Given the description of an element on the screen output the (x, y) to click on. 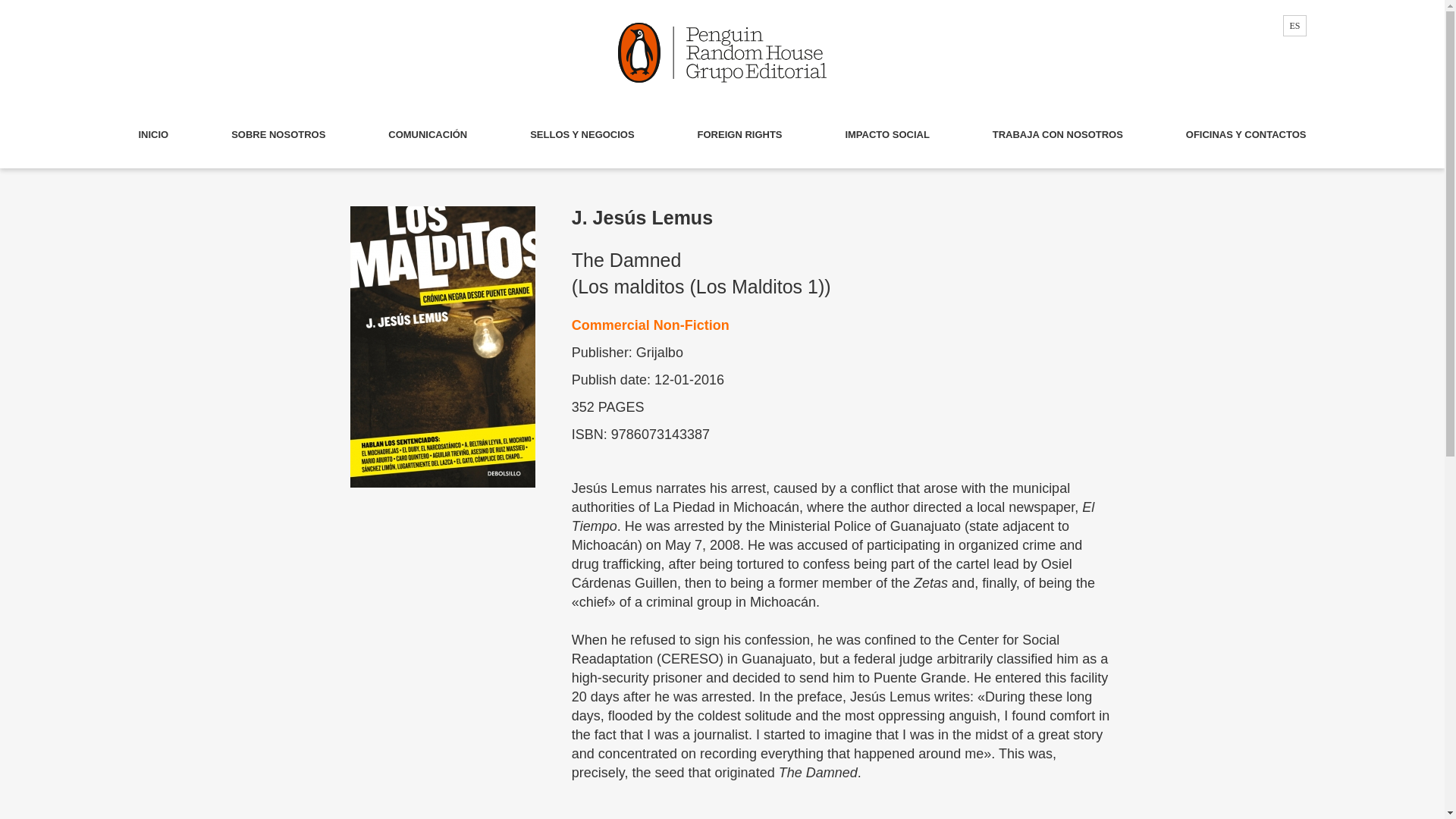
SOBRE NOSOTROS (277, 134)
TRABAJA CON NOSOTROS (1057, 134)
Commercial Non-Fiction (842, 325)
OFICINAS Y CONTACTOS (1246, 134)
SELLOS Y NEGOCIOS (581, 134)
FOREIGN RIGHTS (740, 134)
IMPACTO SOCIAL (886, 134)
